Given the description of an element on the screen output the (x, y) to click on. 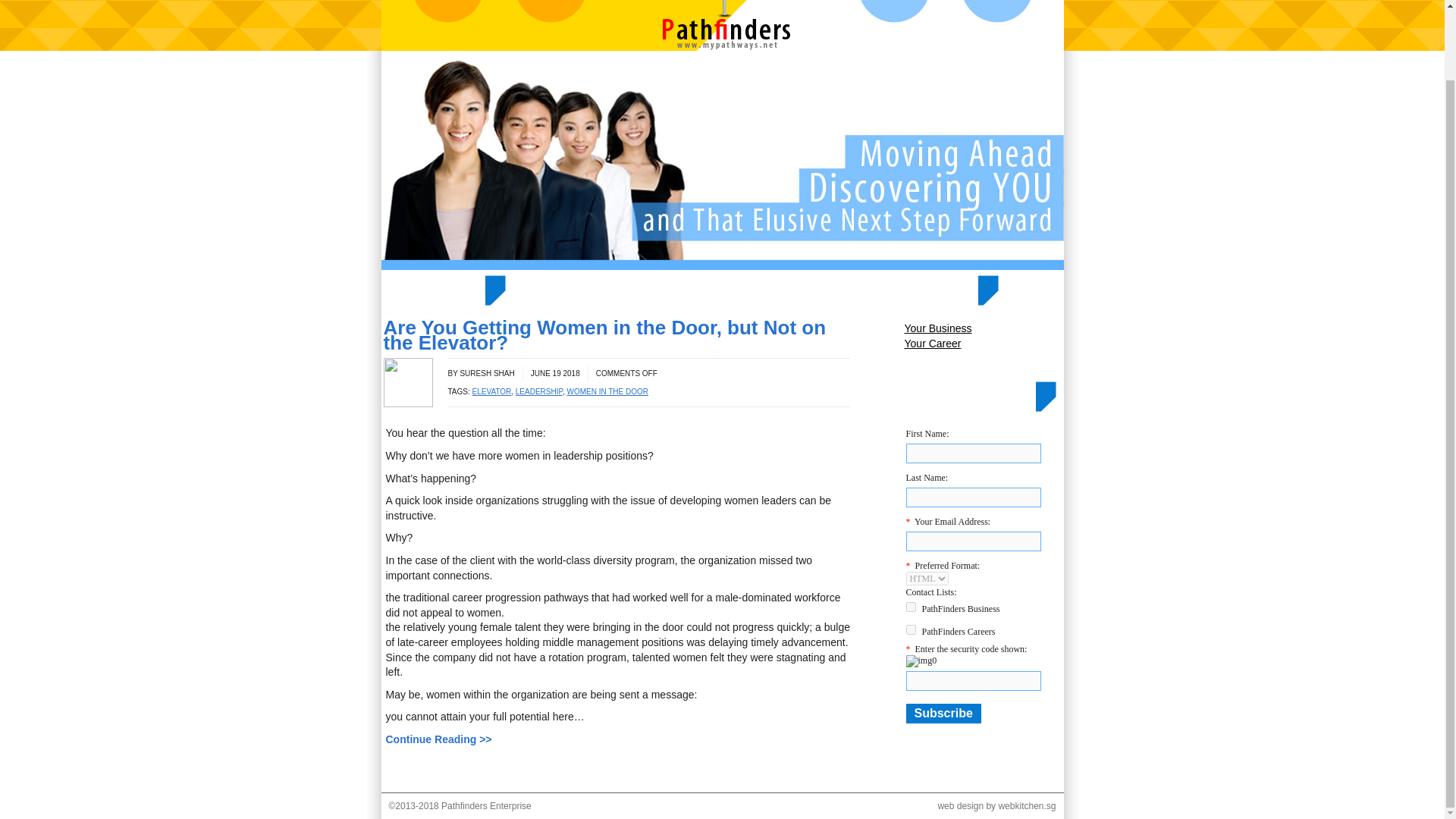
Are You Getting Women in the Door, but Not on the Elevator? (605, 334)
1 (910, 606)
2 (910, 629)
web design by webkitchen.sg (996, 805)
Subscribe (942, 713)
WOMEN IN THE DOOR (606, 391)
ELEVATOR (491, 391)
Contact Us (995, 11)
Your Business (983, 328)
Services (893, 11)
Subscribe (942, 713)
About Us (549, 11)
LEADERSHIP (538, 391)
Your Career (983, 343)
